Given the description of an element on the screen output the (x, y) to click on. 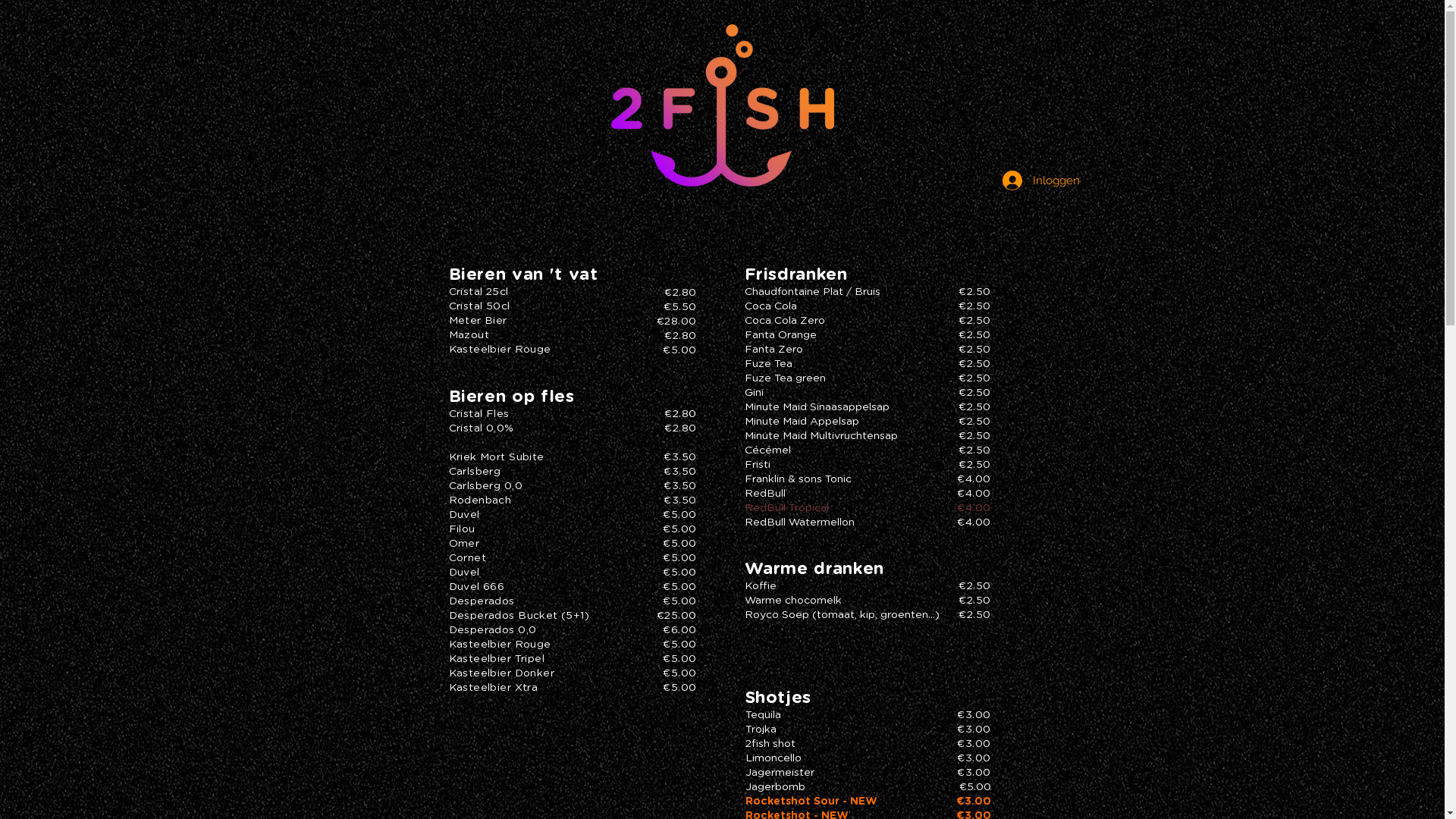
Inloggen Element type: text (1036, 180)
